Given the description of an element on the screen output the (x, y) to click on. 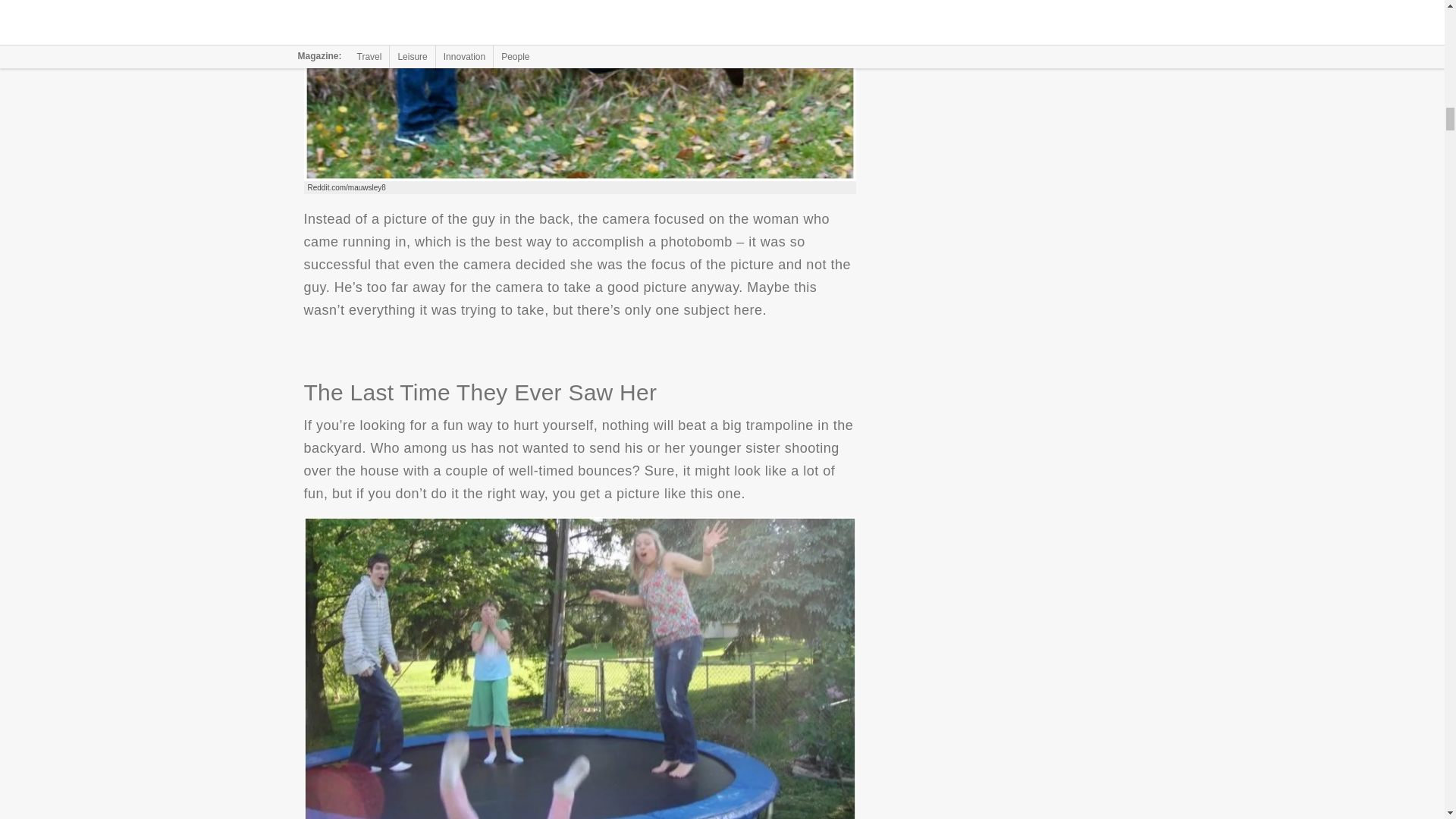
Coming in for a Landing (579, 90)
